Given the description of an element on the screen output the (x, y) to click on. 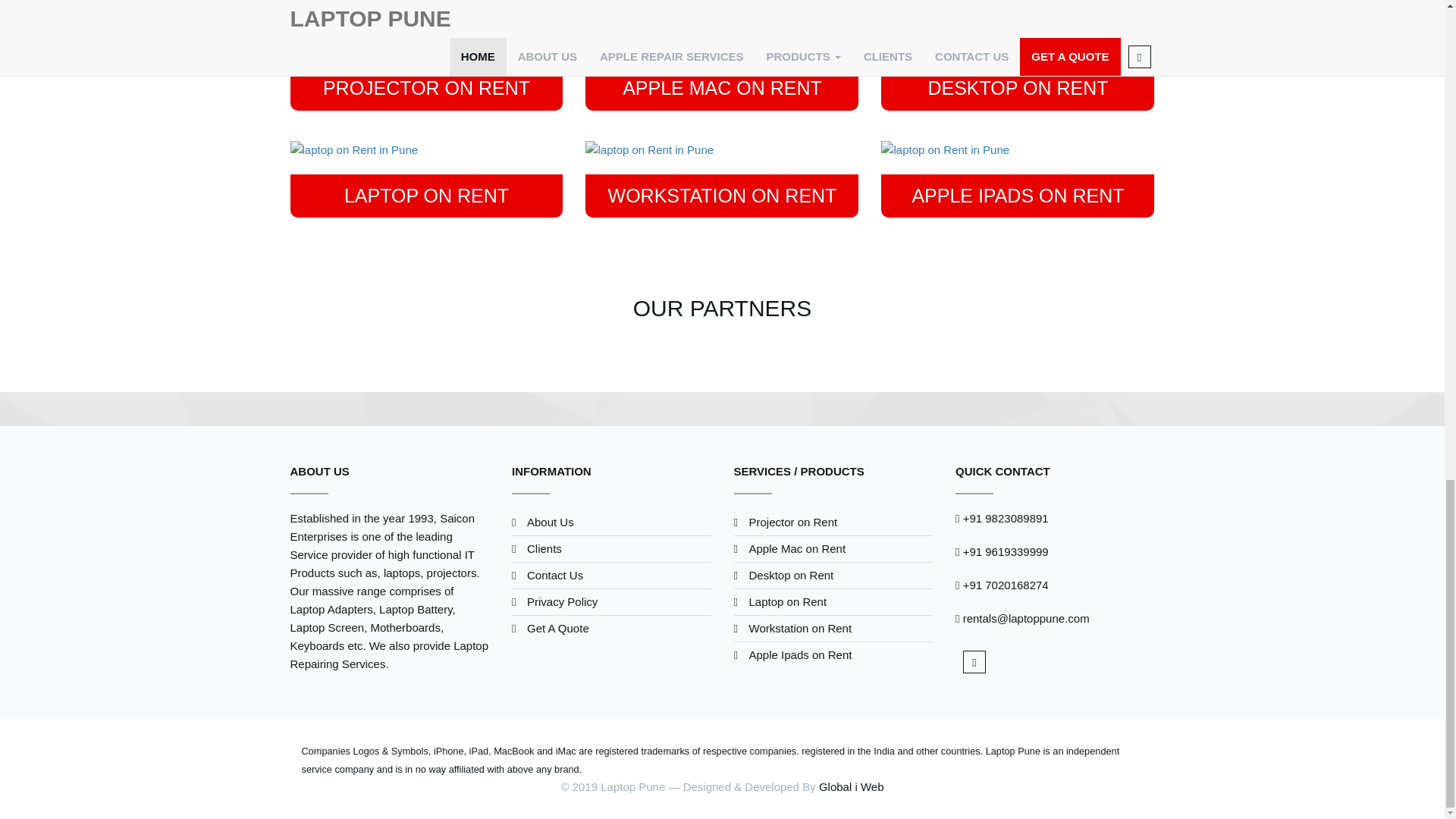
laptop on Rent (722, 42)
laptop on Rent (722, 149)
laptop on Rent (1017, 42)
laptop on Rent (1017, 149)
laptop on Rent (425, 149)
laptop on Rent (425, 42)
